Given the description of an element on the screen output the (x, y) to click on. 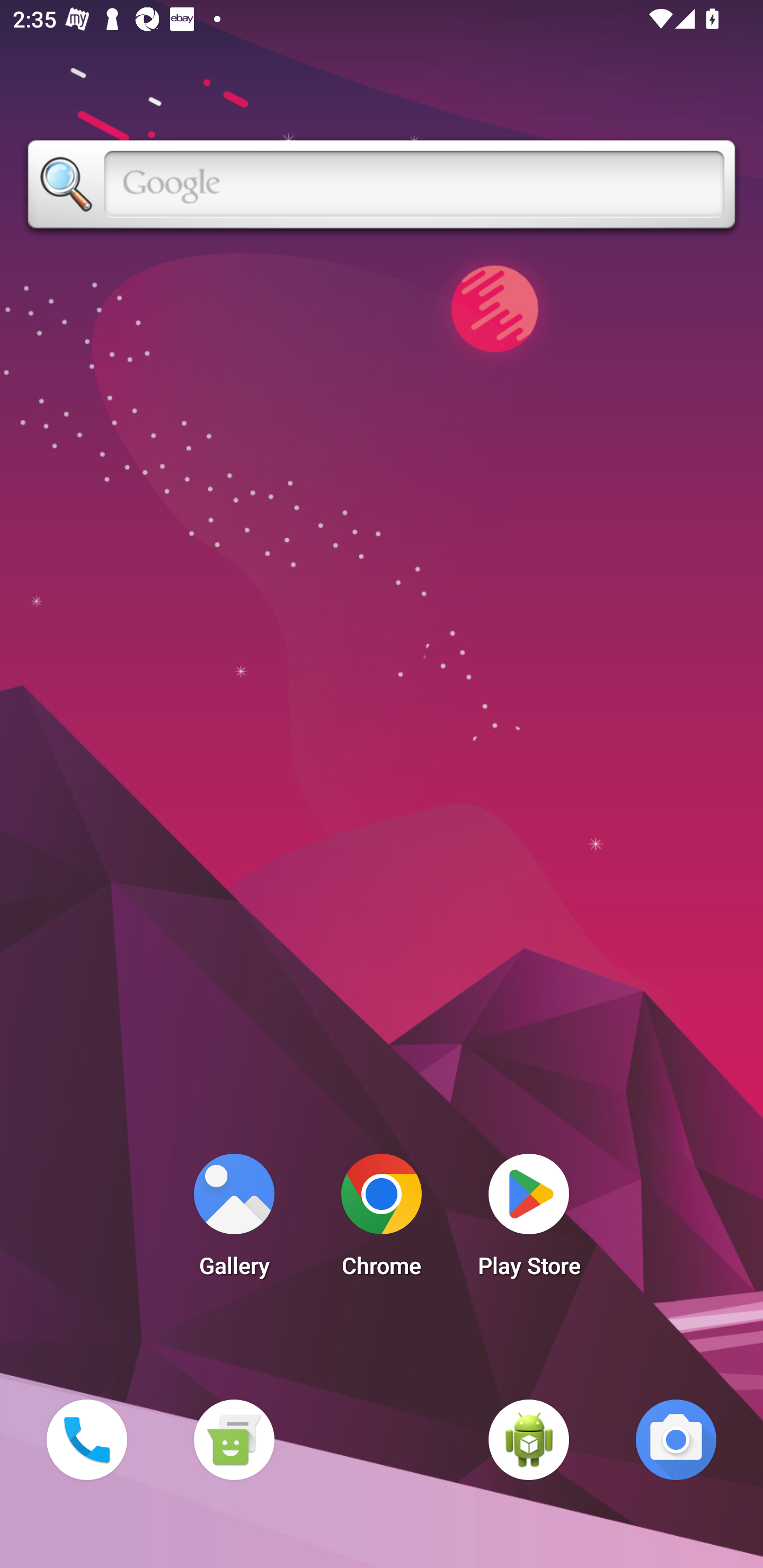
Gallery (233, 1220)
Chrome (381, 1220)
Play Store (528, 1220)
Phone (86, 1439)
Messaging (233, 1439)
WebView Browser Tester (528, 1439)
Camera (676, 1439)
